Given the description of an element on the screen output the (x, y) to click on. 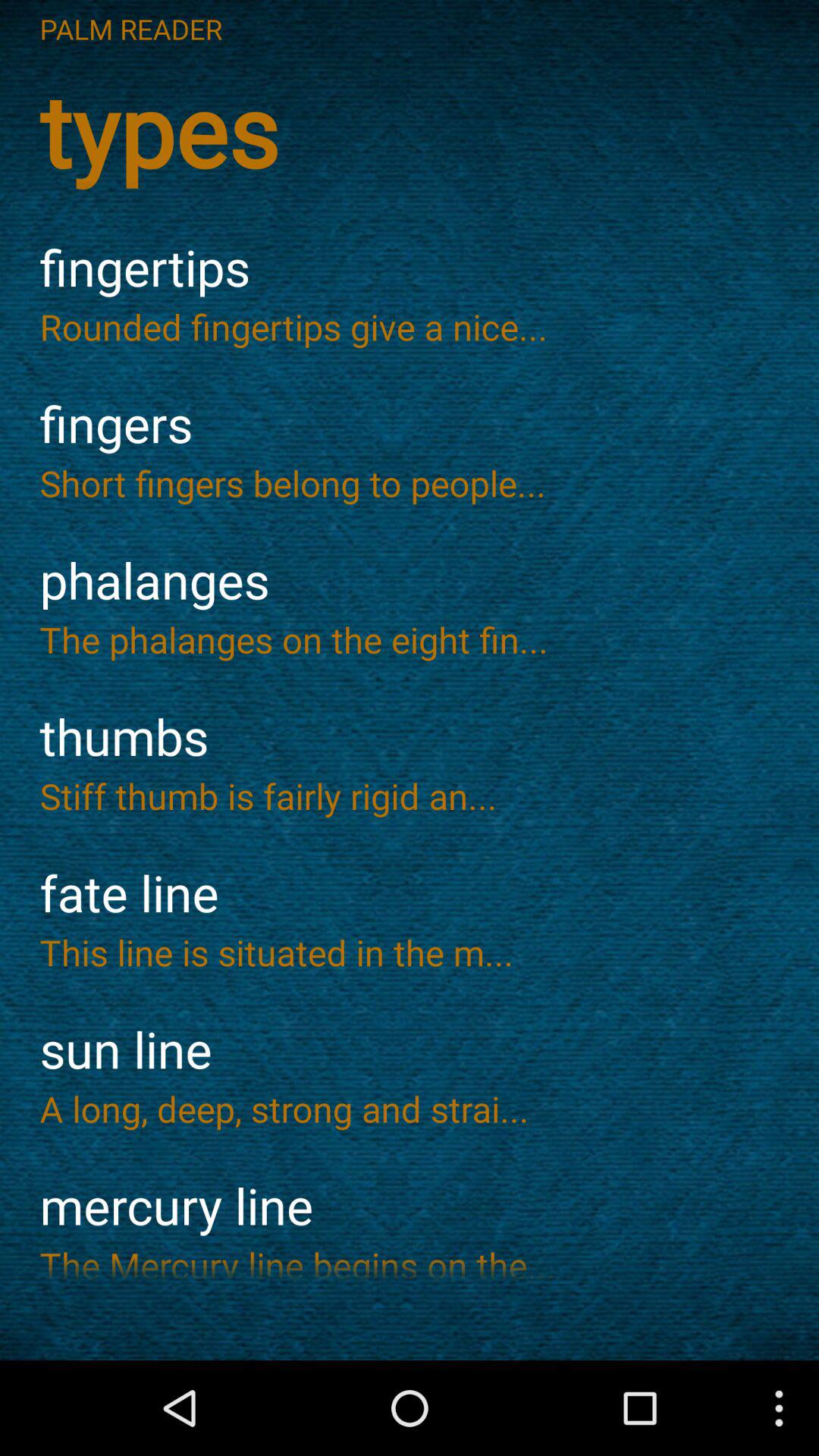
click item above the sun line app (409, 952)
